Given the description of an element on the screen output the (x, y) to click on. 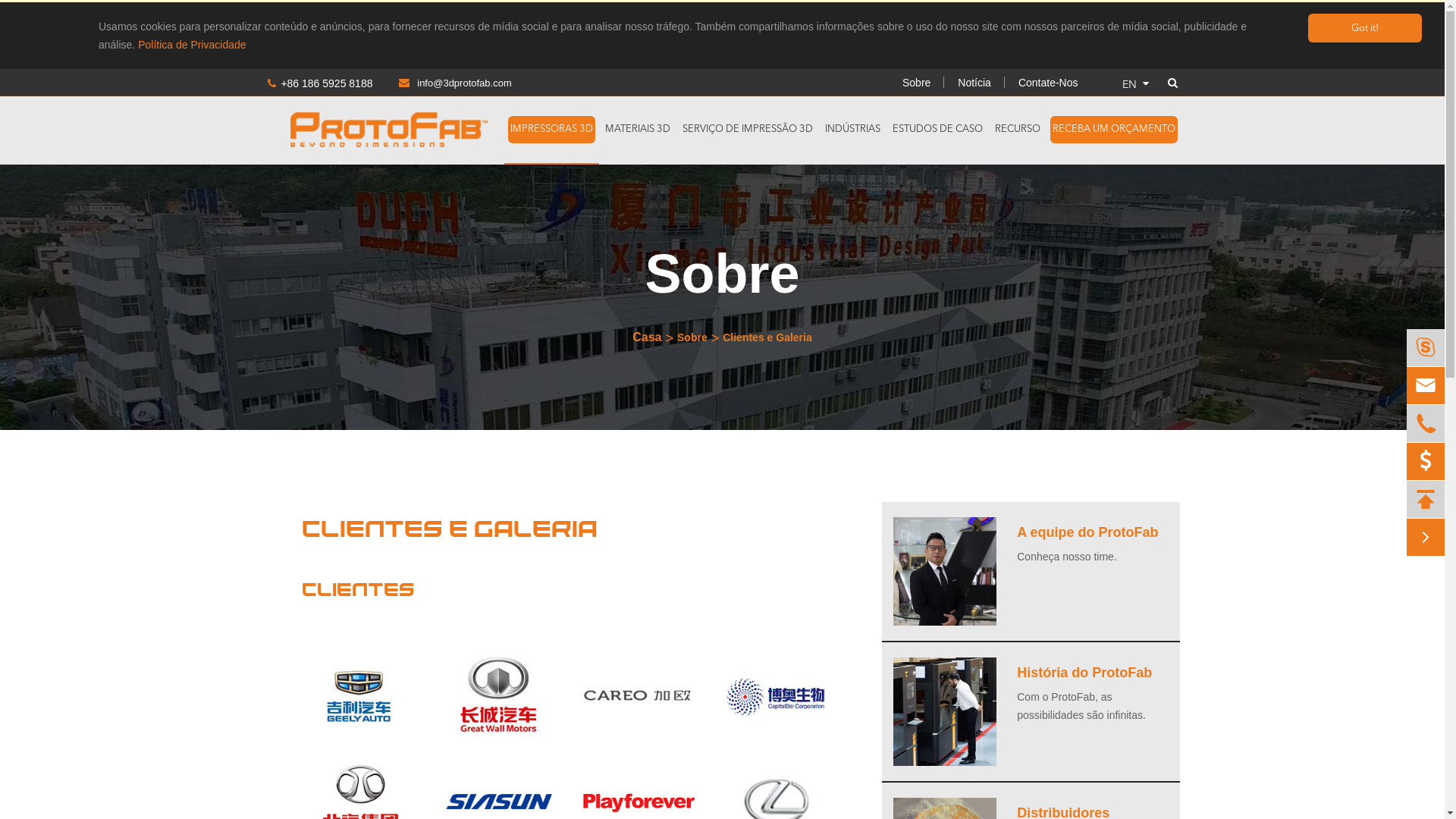
ESTUDOS DE CASO Element type: text (937, 129)
RECURSO Element type: text (1016, 129)
Sobre Element type: text (916, 82)
MATERIAIS 3D Element type: text (636, 129)
IMPRESSORAS 3D Element type: text (551, 129)
A equipe do ProtoFab Element type: text (1086, 531)
info@3dprotofab.com Element type: text (443, 82)
Casa Element type: text (646, 336)
Clientes e Galeria Element type: text (767, 337)
0 Element type: text (1425, 461)
Contate-Nos Element type: text (1048, 82)
Sobre Element type: text (692, 337)
Got it! Element type: text (1364, 27)
